Given the description of an element on the screen output the (x, y) to click on. 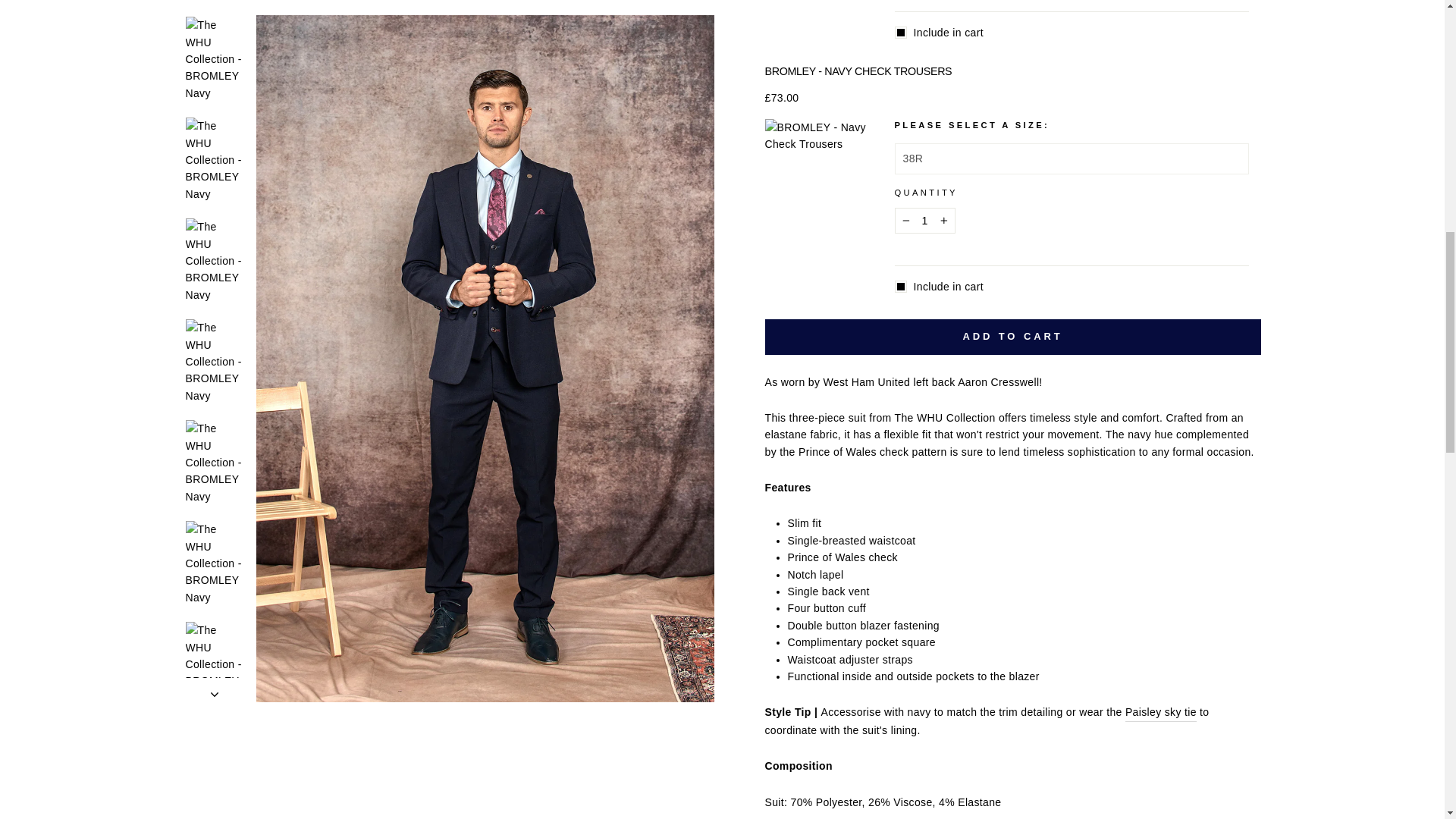
1 (925, 220)
